Given the description of an element on the screen output the (x, y) to click on. 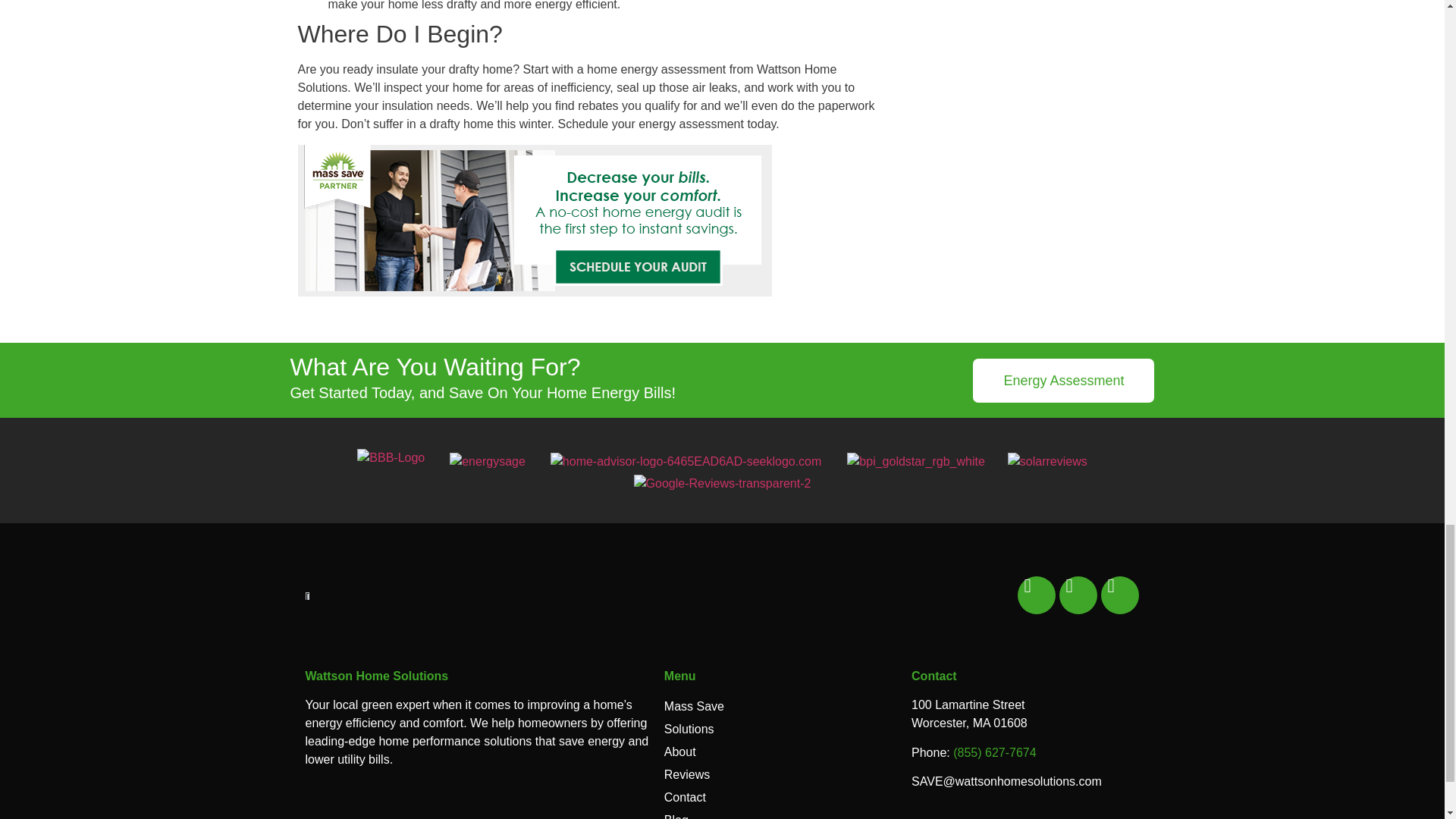
solarreviews (1047, 461)
BBB-Logo (390, 457)
home-advisor-logo-6465EAD6AD-seeklogo.com (686, 461)
energysage (487, 461)
Google-Reviews-transparent-2 (721, 484)
